Given the description of an element on the screen output the (x, y) to click on. 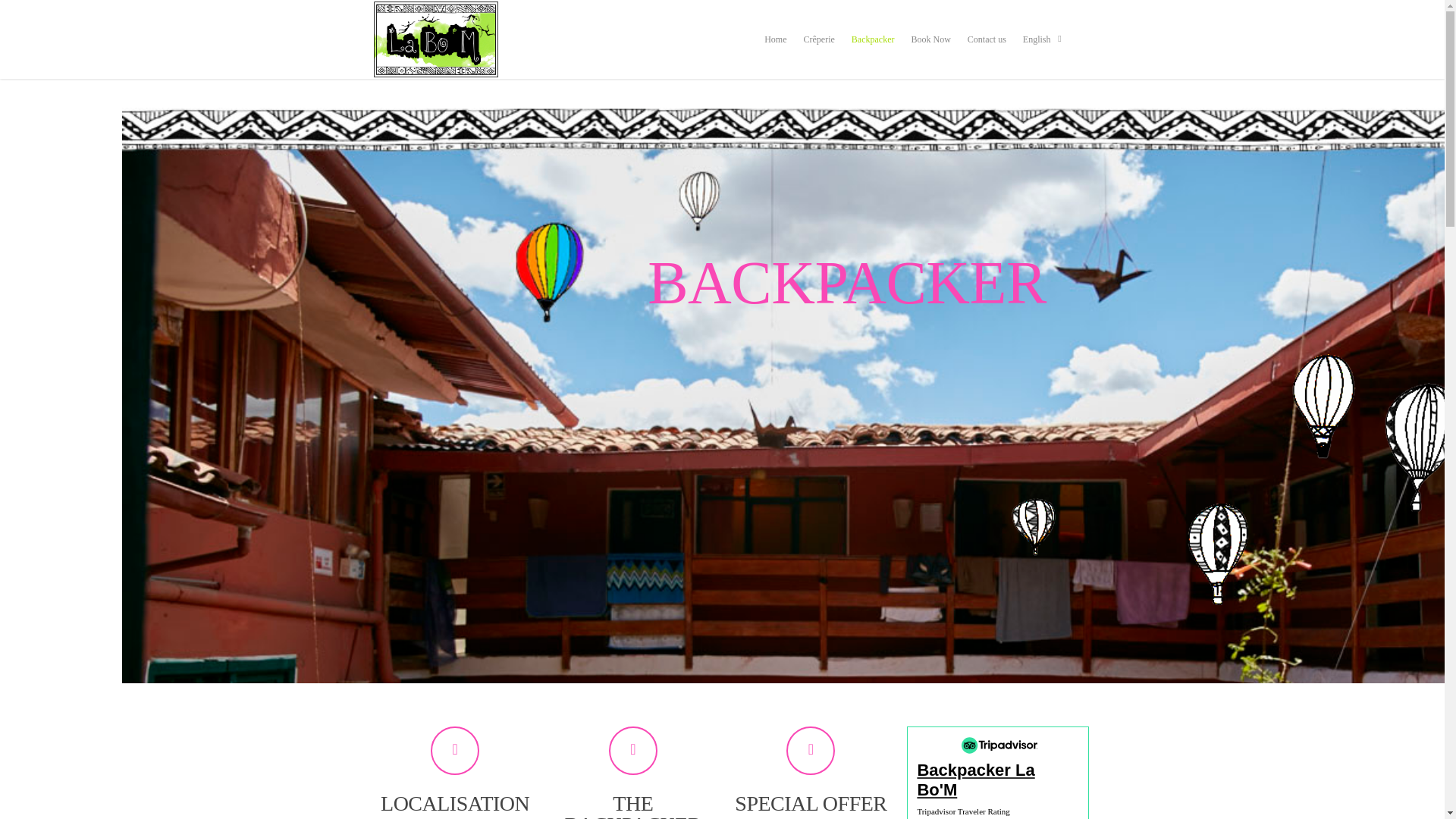
Backpacker La Bo'M (997, 780)
